Given the description of an element on the screen output the (x, y) to click on. 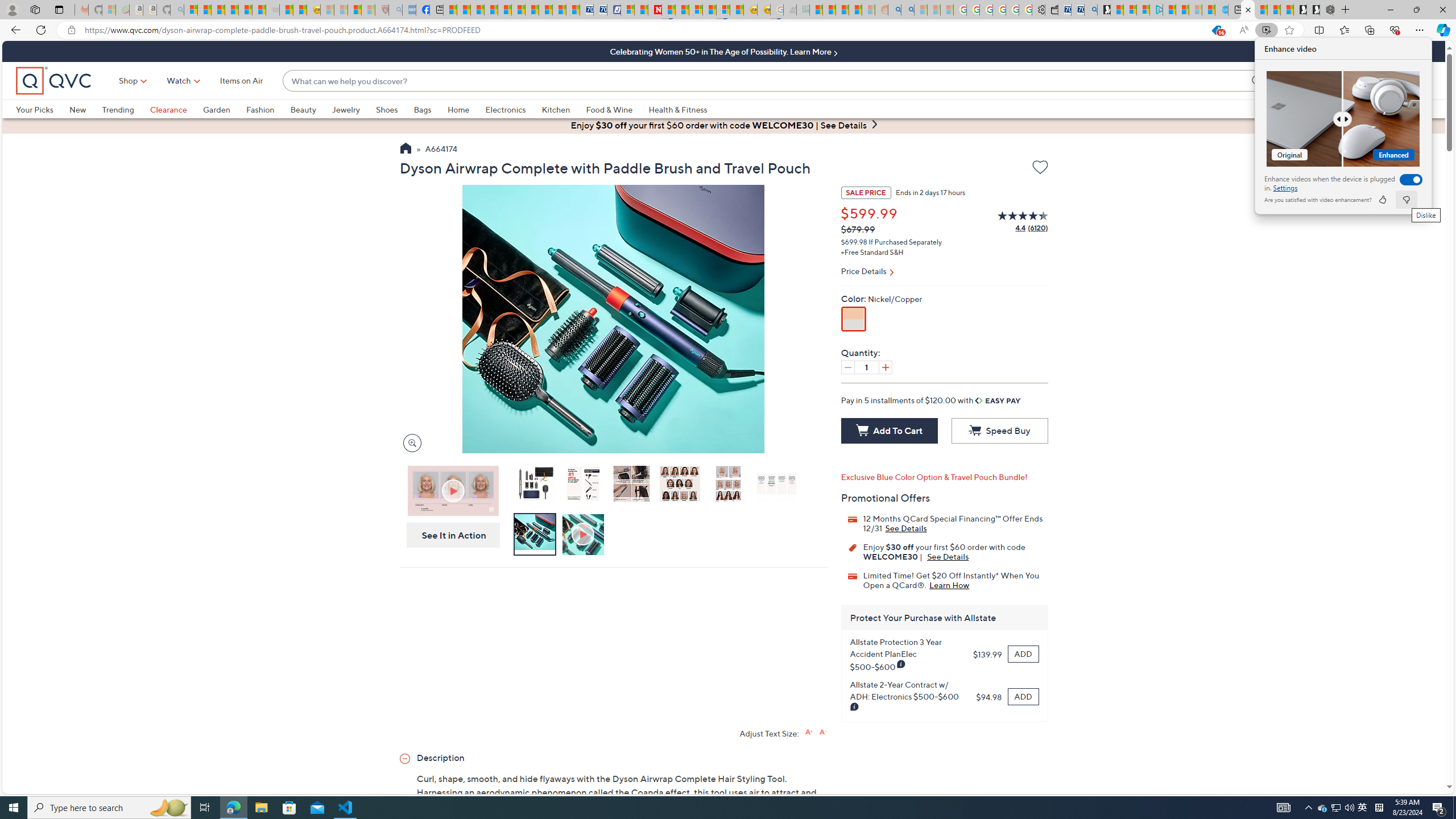
Decrease quantity by 1 (847, 367)
Shoes (386, 109)
